Given the description of an element on the screen output the (x, y) to click on. 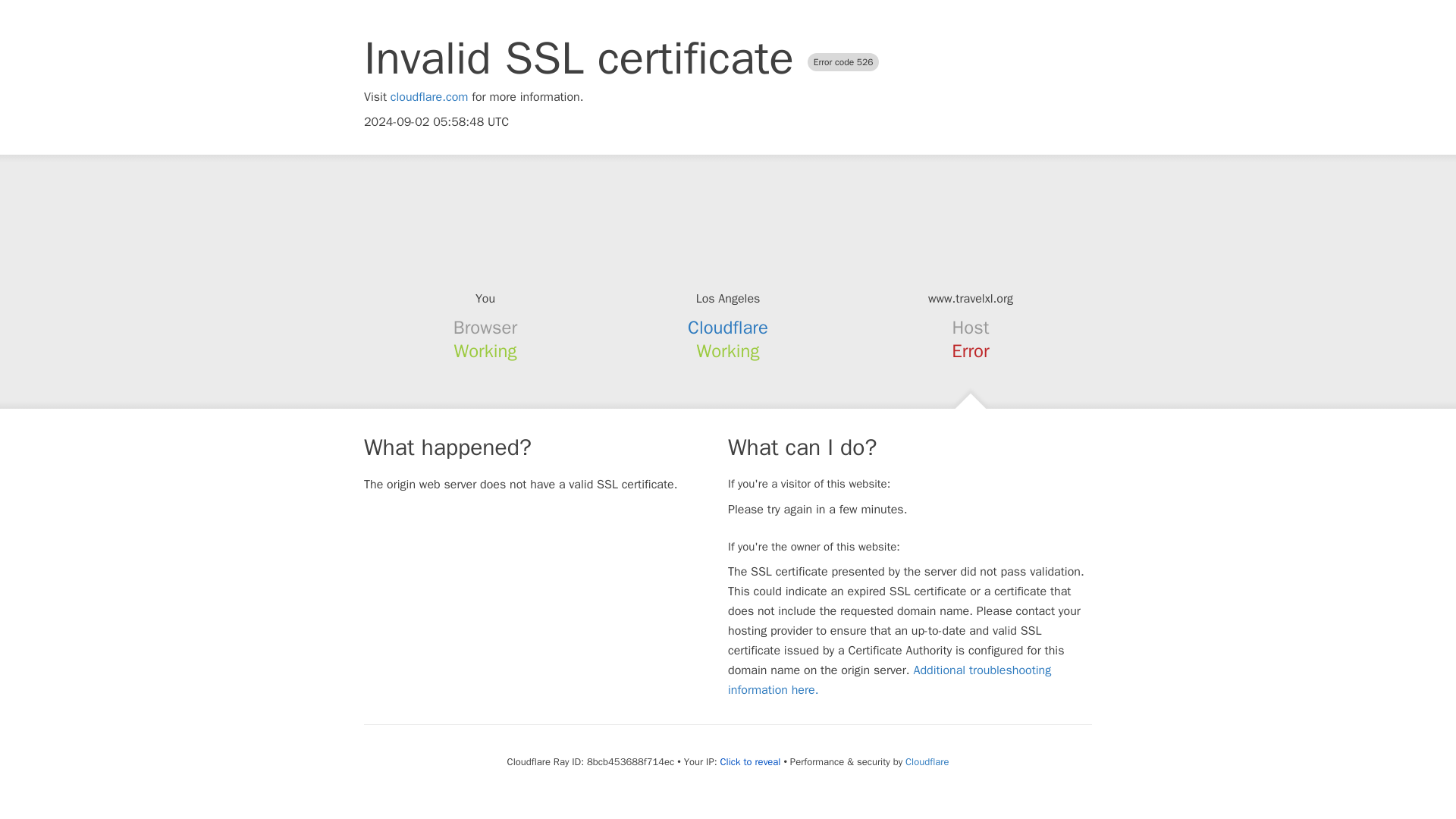
Additional troubleshooting information here. (889, 679)
Cloudflare (727, 327)
Cloudflare (927, 761)
cloudflare.com (429, 96)
Click to reveal (750, 762)
